Given the description of an element on the screen output the (x, y) to click on. 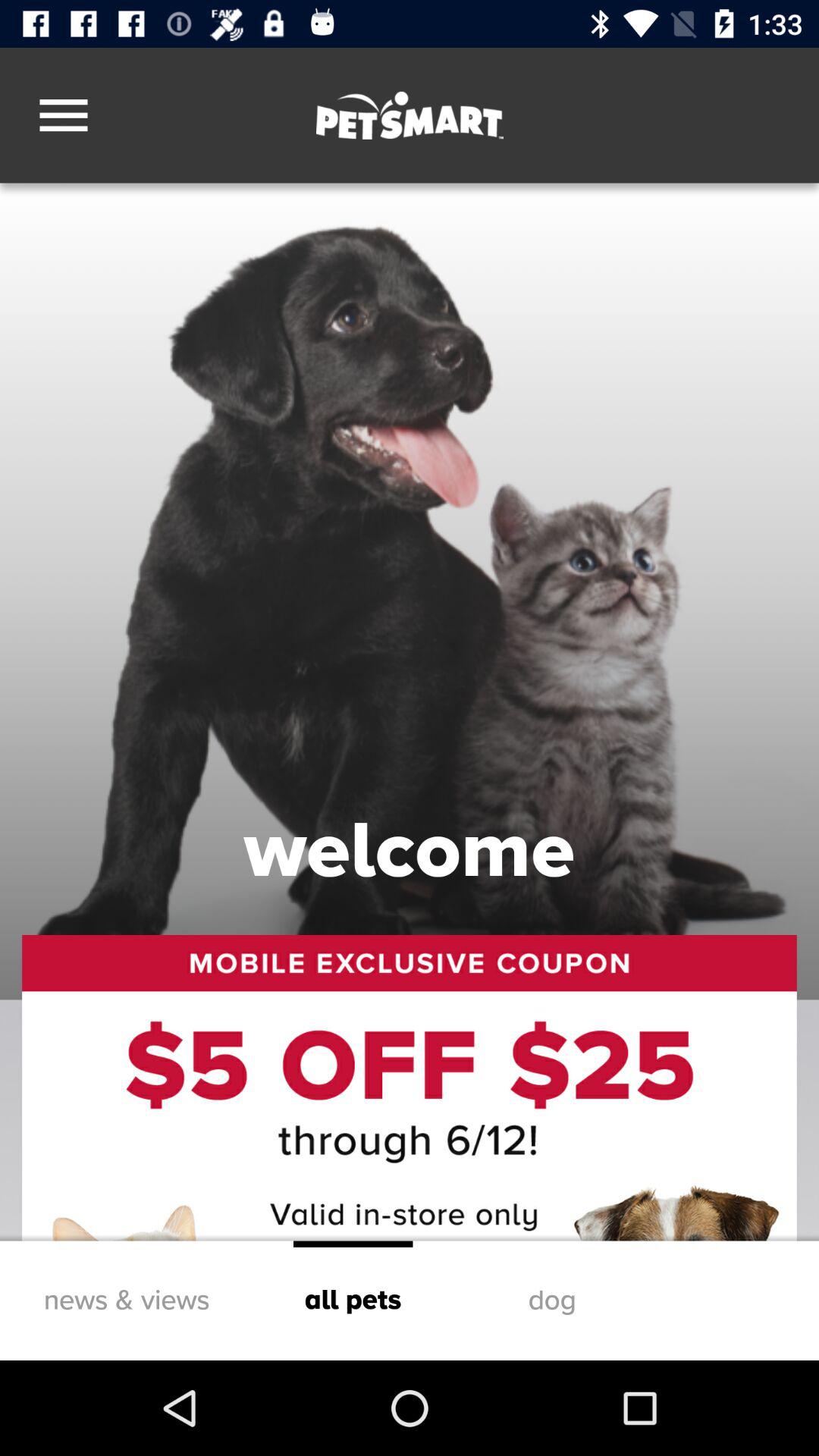
click icon at the top left corner (63, 115)
